Given the description of an element on the screen output the (x, y) to click on. 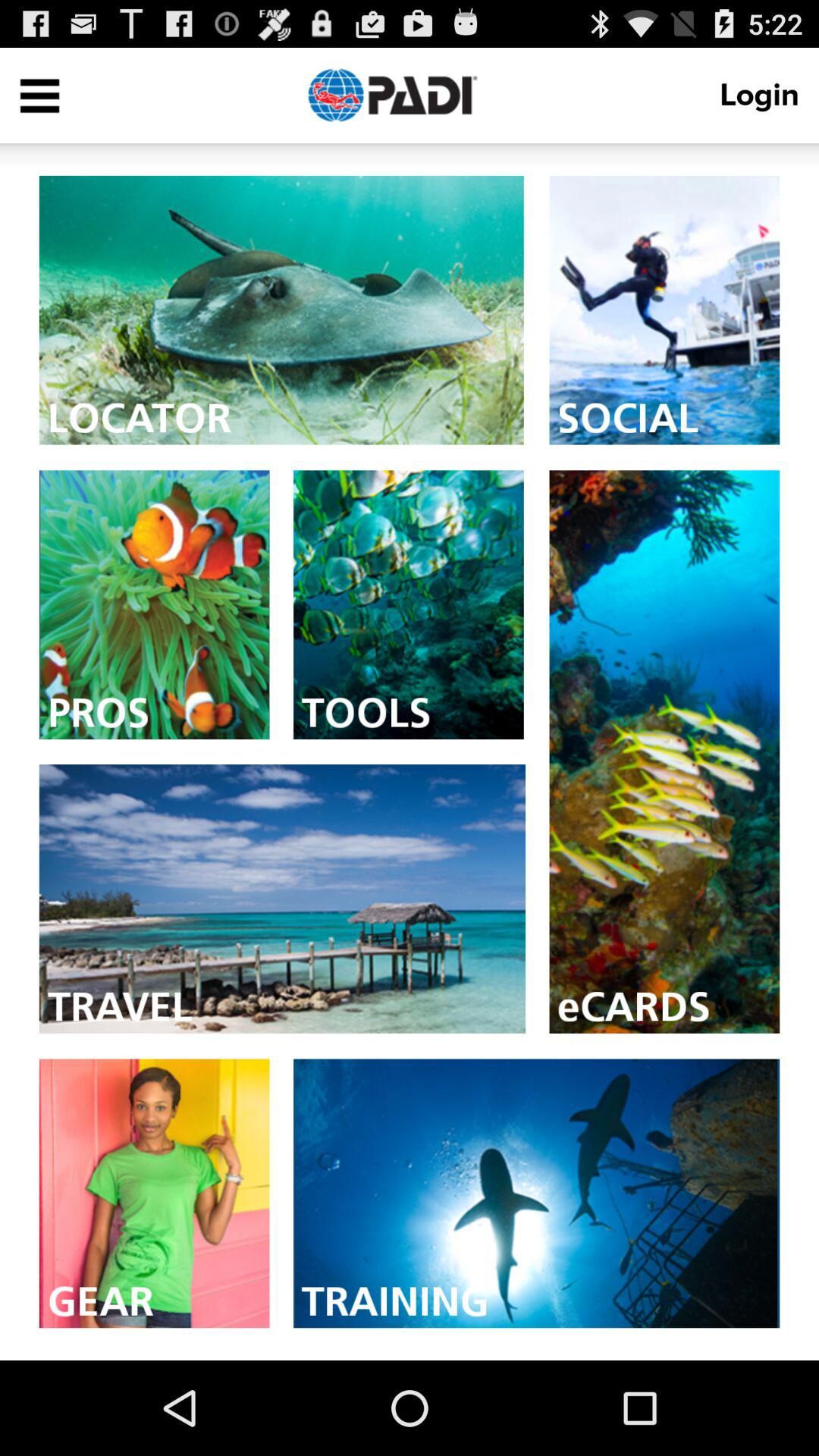
view different sections (39, 95)
